Given the description of an element on the screen output the (x, y) to click on. 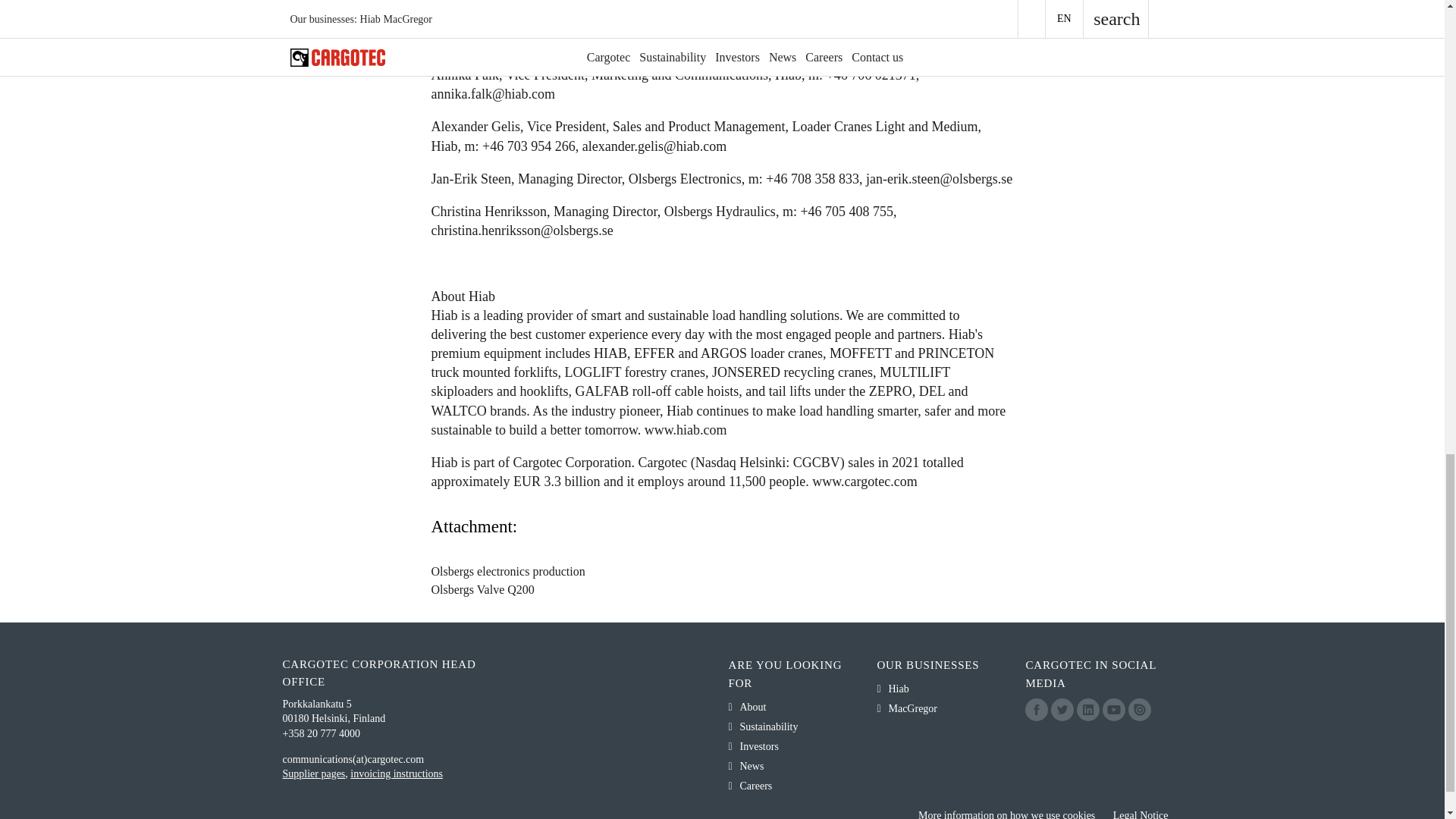
youtube (1113, 709)
twitter (1062, 709)
facebook (1036, 709)
www.cargotec.com (864, 481)
www.hiab.com (685, 429)
linkedin (1088, 709)
issuu (1139, 709)
